Given the description of an element on the screen output the (x, y) to click on. 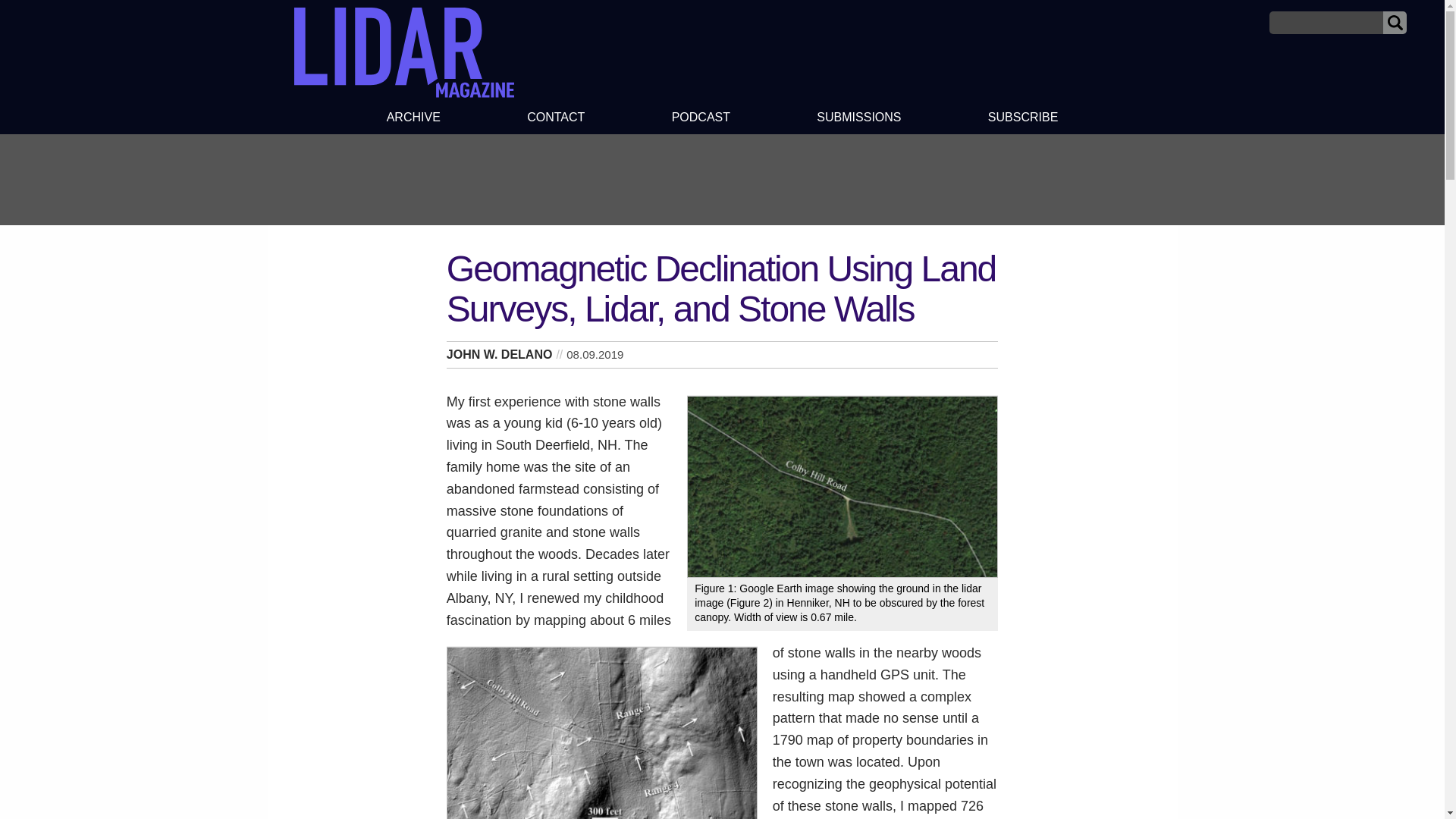
SUBMISSIONS (858, 119)
Submit (1394, 22)
LIDAR Magazine (403, 92)
LIDAR Magazine (403, 52)
CONTACT (555, 119)
SUBSCRIBE (1023, 119)
PODCAST (700, 119)
Search for: (1326, 22)
Submit (1394, 22)
Submit (1394, 22)
